Given the description of an element on the screen output the (x, y) to click on. 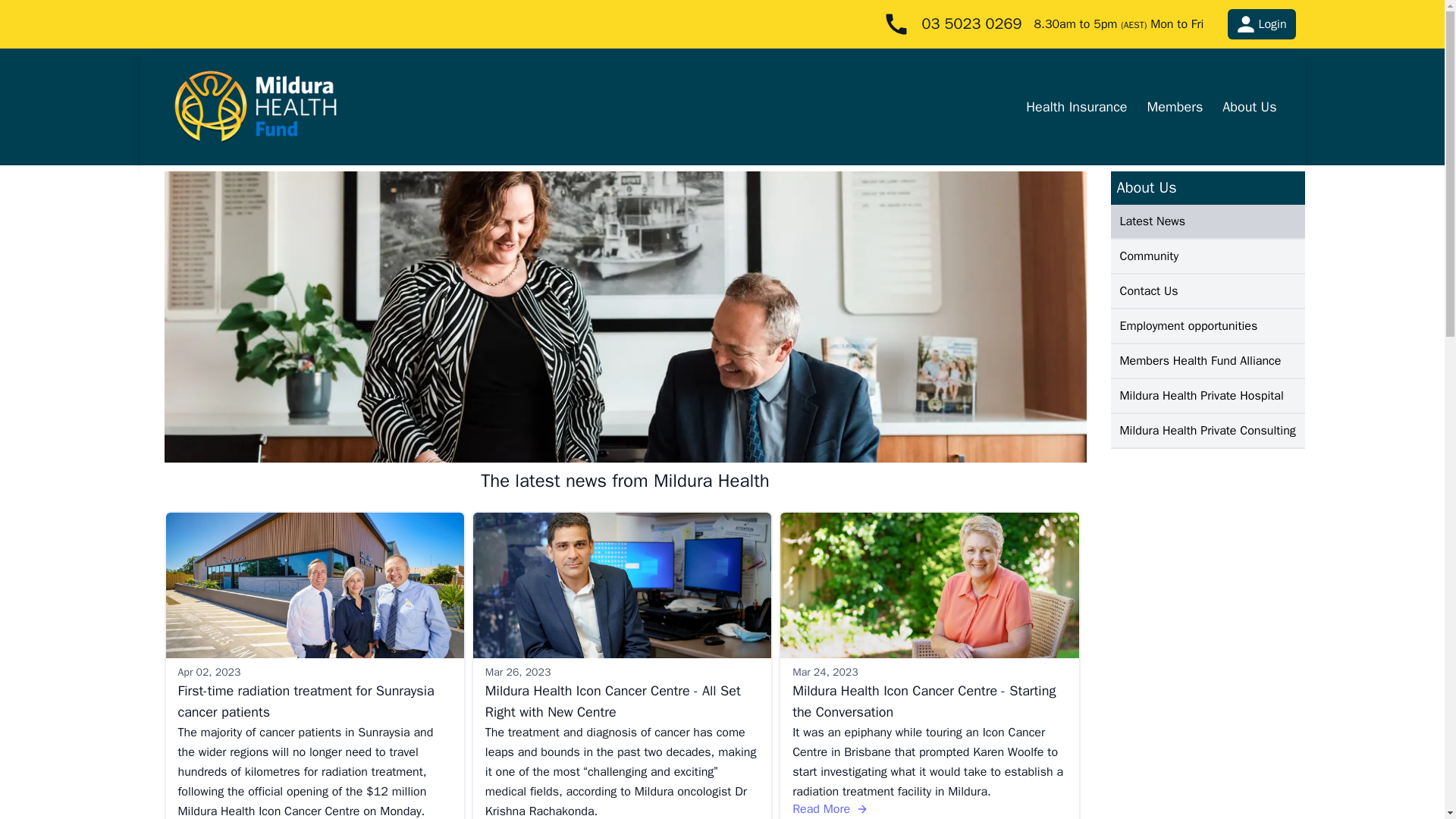
Members (1174, 106)
Login (1261, 24)
About Us (1248, 106)
Health Insurance (1076, 106)
